Given the description of an element on the screen output the (x, y) to click on. 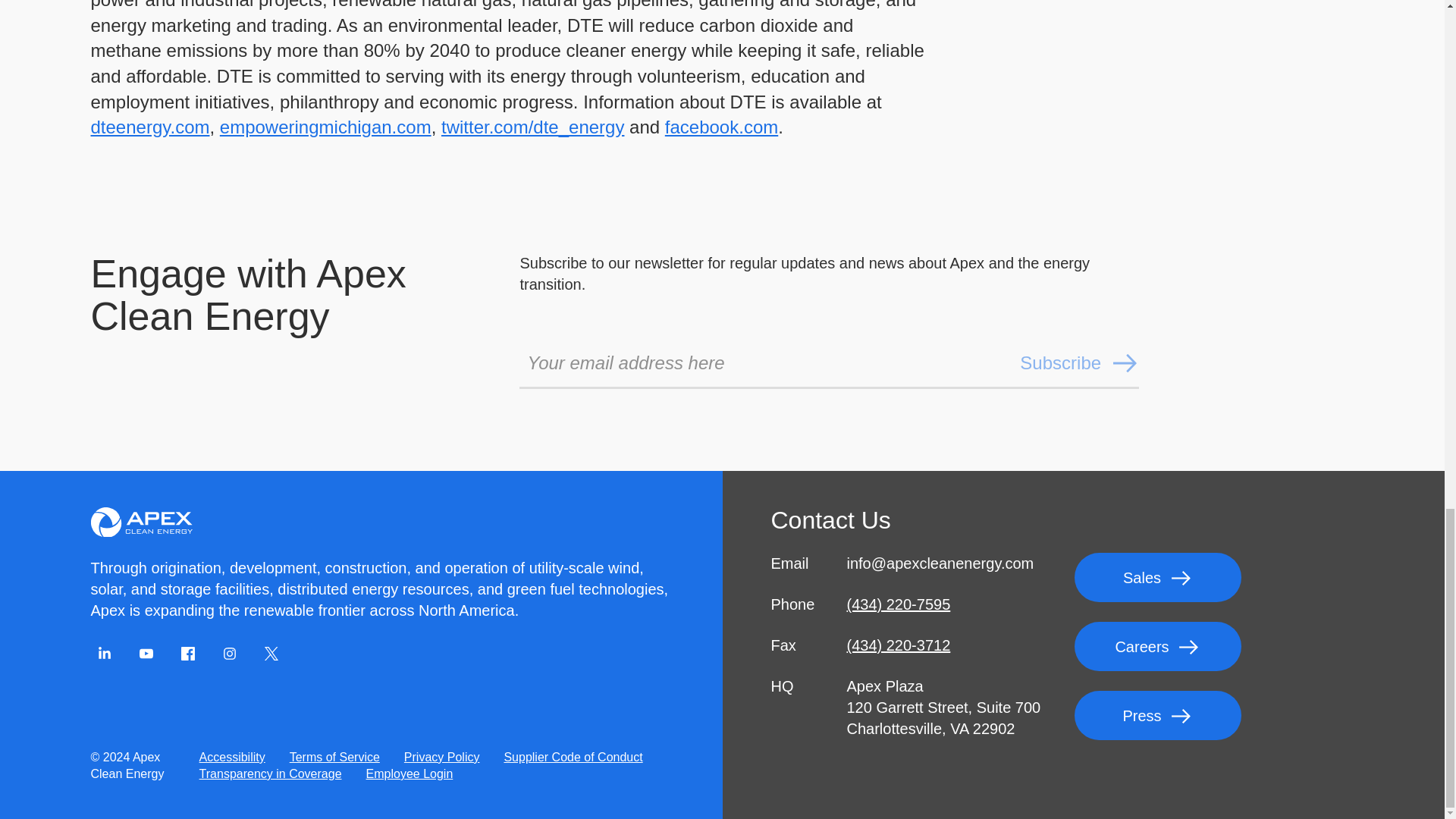
dteenergy.com (149, 127)
Connect on Twitter (270, 653)
empoweringmichigan.com (324, 127)
Connect on LinkedIn (103, 653)
Connect on YouTube (145, 653)
Privacy Policy (441, 757)
Connect on Facebook (187, 653)
Transparency in Coverage (270, 773)
Apex Clean Energy (141, 521)
Subscribe (1079, 362)
Connect on Instagram (228, 653)
facebook.com (721, 127)
Supplier Code of Conduct (572, 757)
Accessibility (232, 757)
Terms of Service (334, 757)
